Given the description of an element on the screen output the (x, y) to click on. 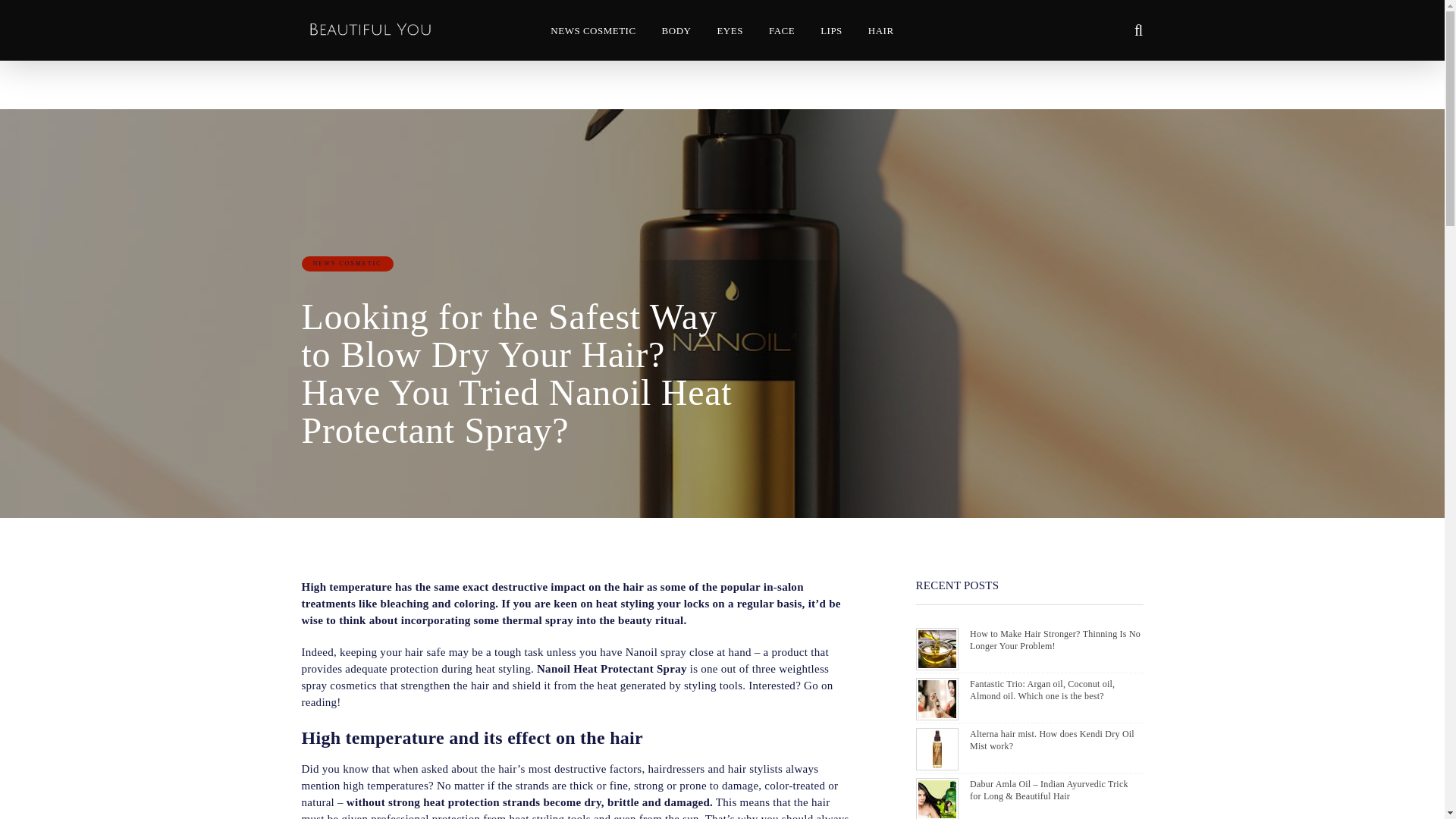
FACE (781, 30)
Alterna hair mist. How does Kendi Dry Oil Mist work? (1051, 739)
NEWS COSMETIC (347, 263)
GO (1127, 30)
View all posts in NEWS COSMETIC (347, 263)
EYES (729, 30)
HAIR (880, 30)
NEWS COSMETIC (592, 30)
